Given the description of an element on the screen output the (x, y) to click on. 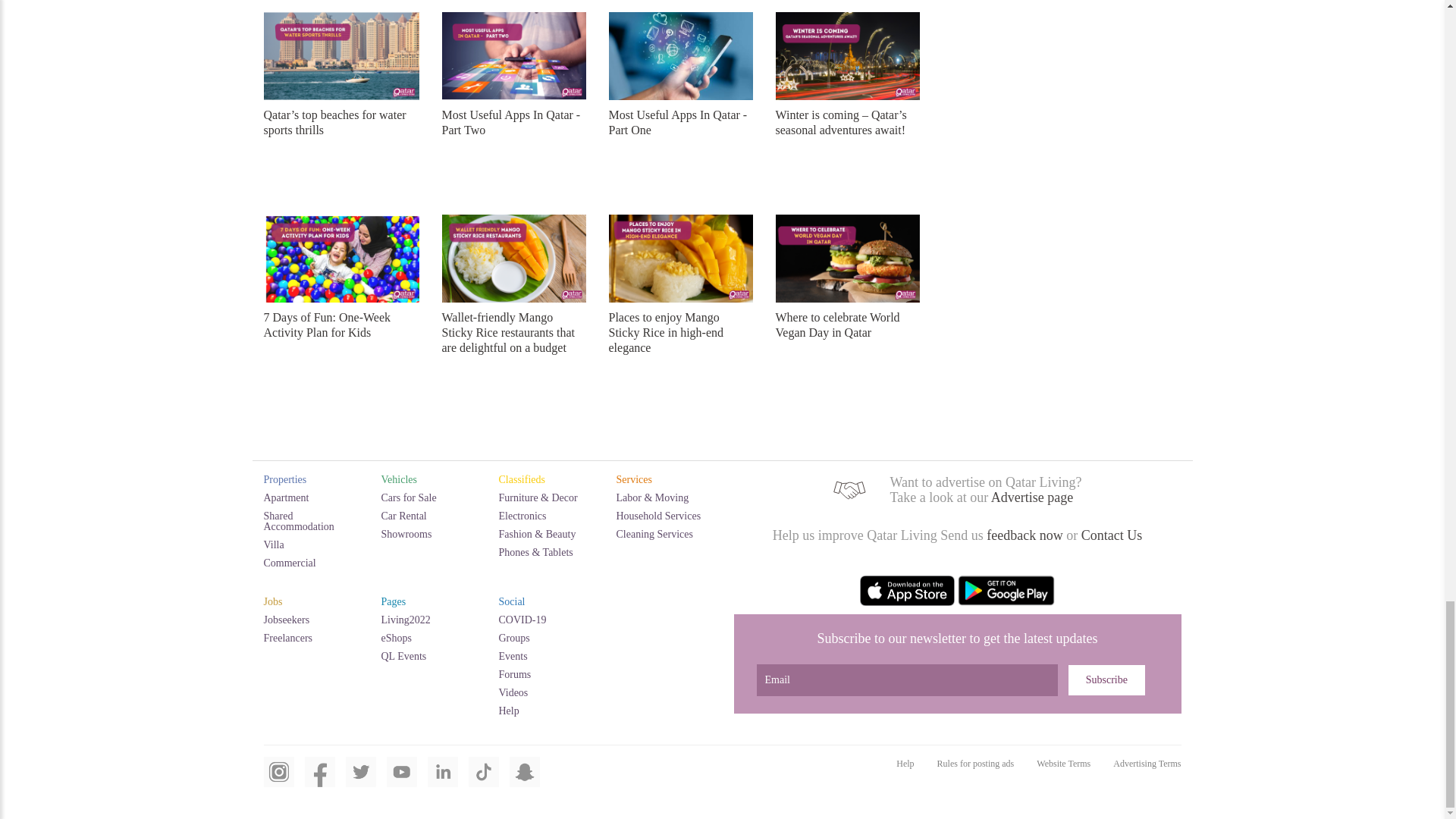
SNAPCHAT (524, 780)
INSTAGRAM (278, 780)
TWITTER (360, 780)
LINKEDIN (443, 780)
FACEBOOK (319, 780)
YOUTUBE (401, 780)
Subscribe (1106, 680)
TIKTOK (483, 780)
